Given the description of an element on the screen output the (x, y) to click on. 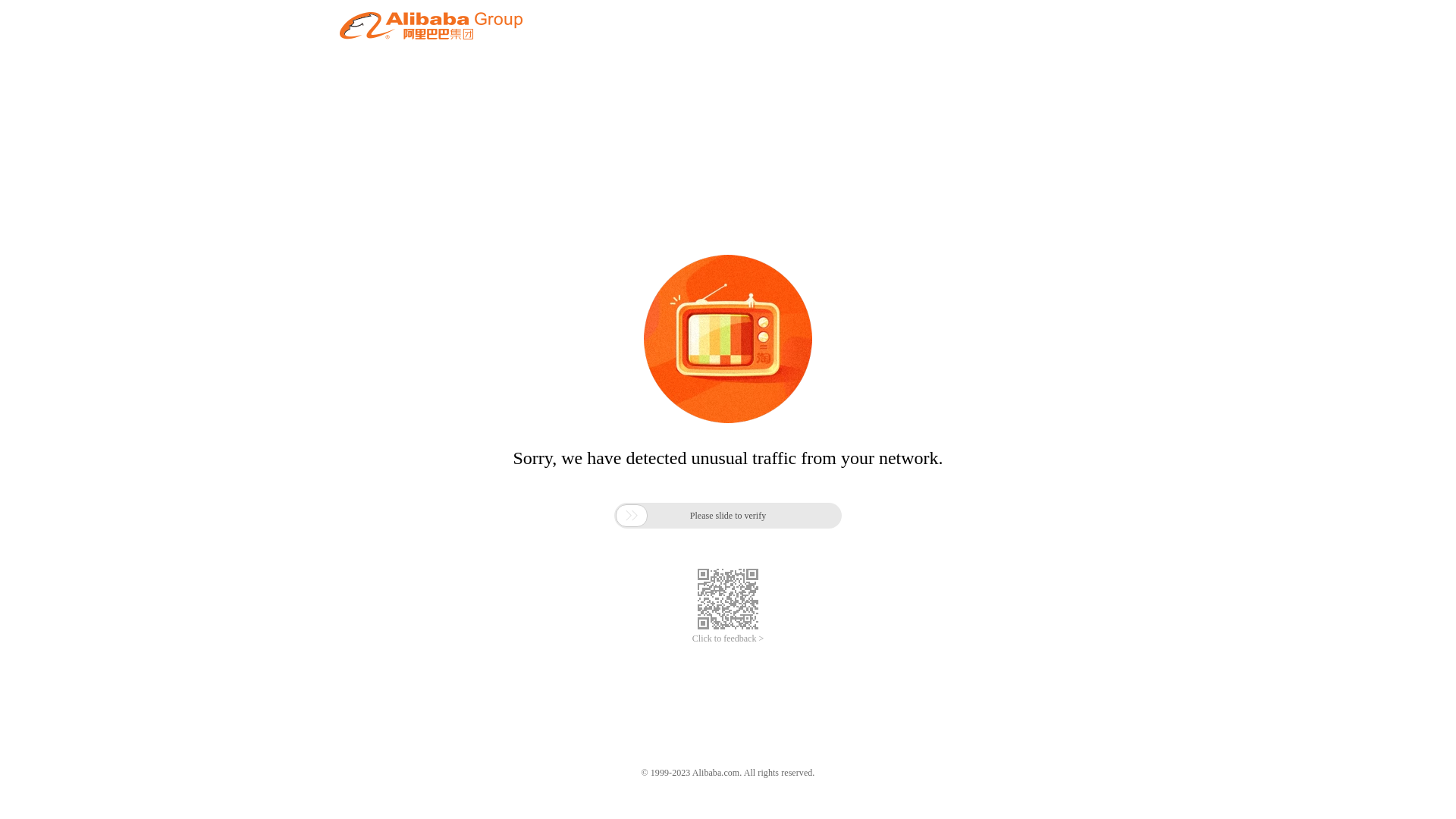
Click to feedback > Element type: text (727, 638)
